Given the description of an element on the screen output the (x, y) to click on. 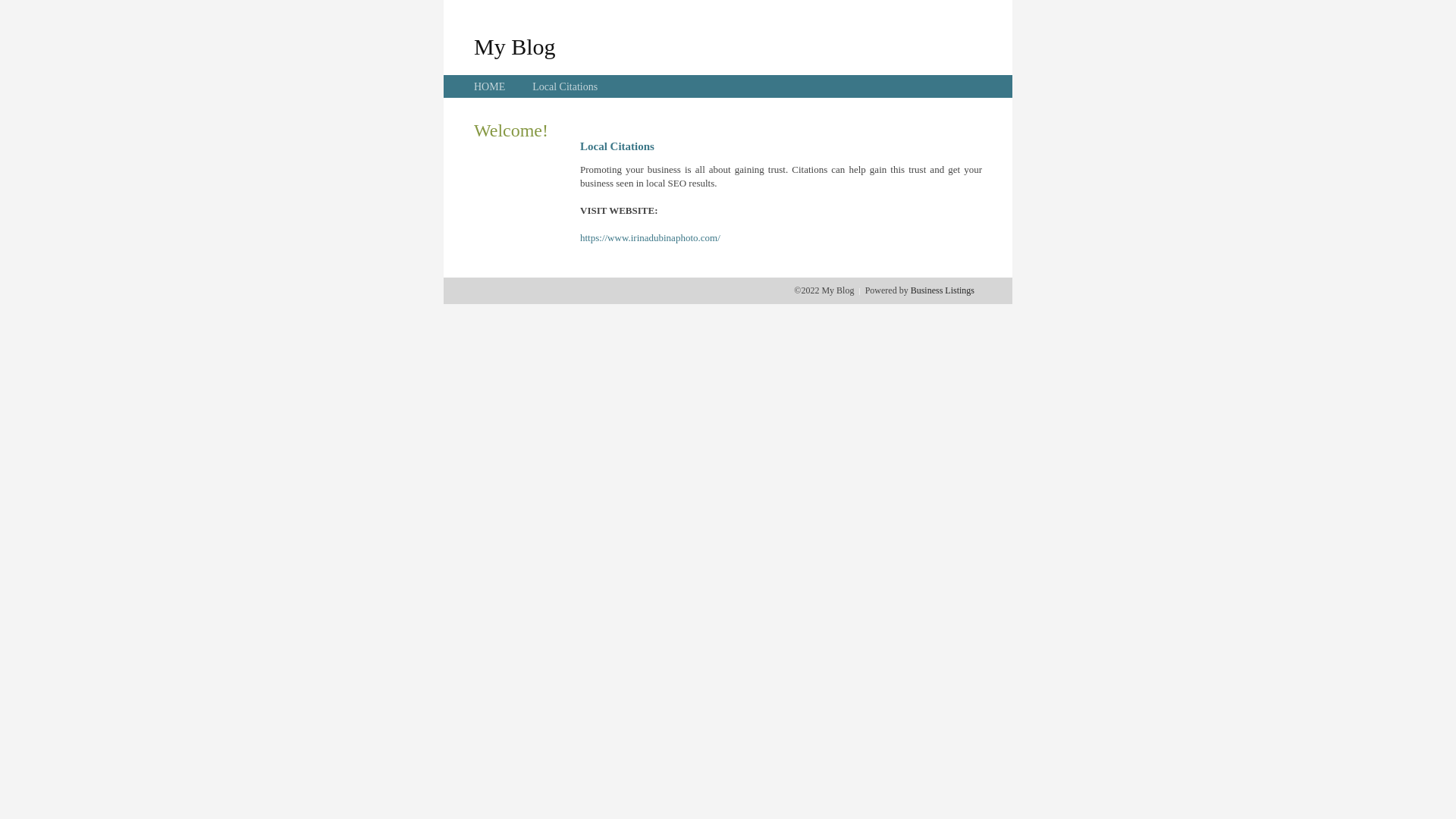
Business Listings Element type: text (942, 290)
https://www.irinadubinaphoto.com/ Element type: text (650, 237)
Local Citations Element type: text (564, 86)
HOME Element type: text (489, 86)
My Blog Element type: text (514, 46)
